Given the description of an element on the screen output the (x, y) to click on. 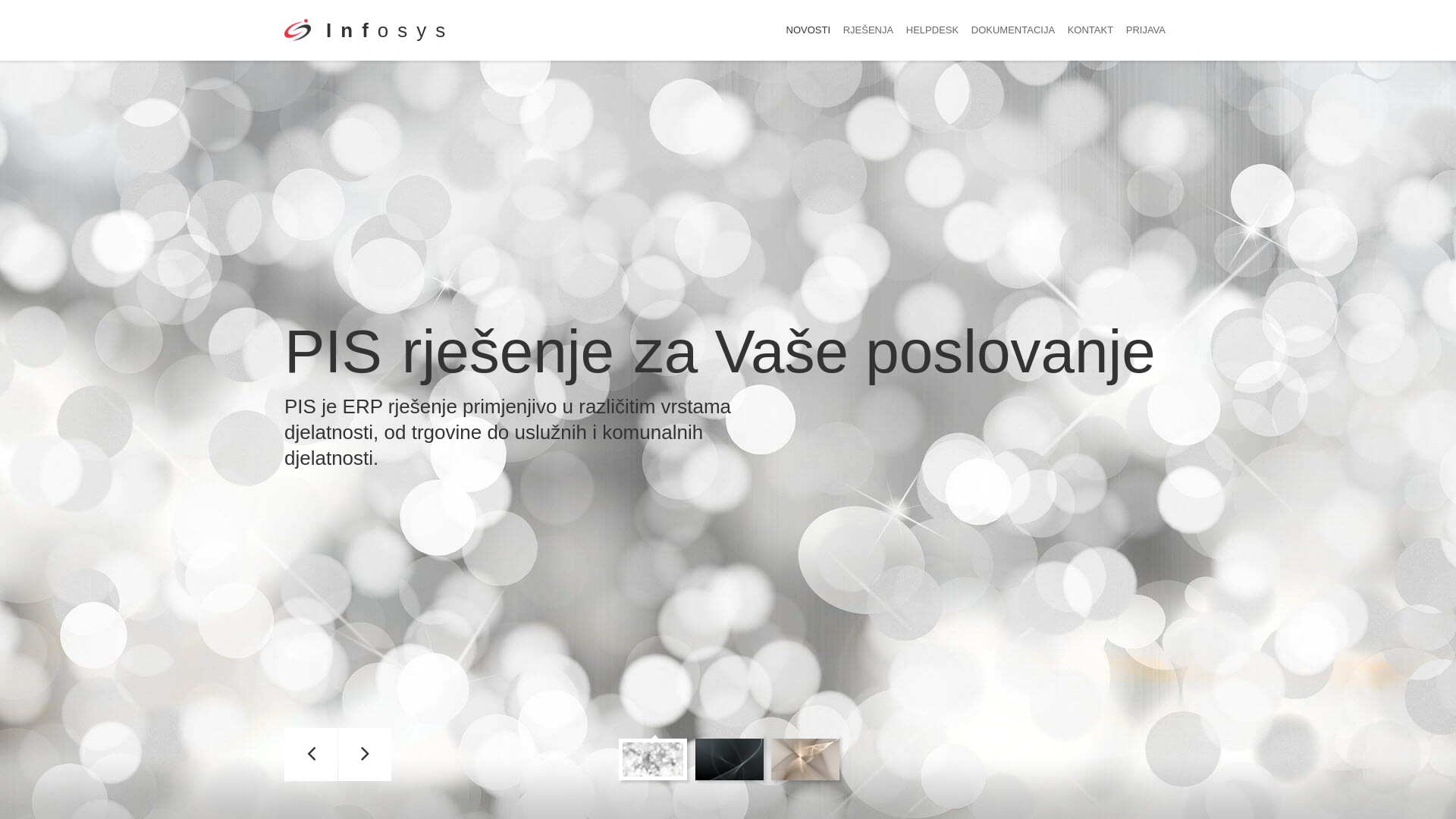
NOVOSTI Element type: text (808, 30)
HELPDESK Element type: text (932, 30)
PRIJAVA Element type: text (1145, 30)
Lokacija Element type: hover (455, 760)
DOKUMENTACIJA Element type: text (1012, 30)
Infosys Element type: text (390, 29)
KONTAKT Element type: text (1090, 30)
www.infosys.ba Element type: hover (297, 46)
